Given the description of an element on the screen output the (x, y) to click on. 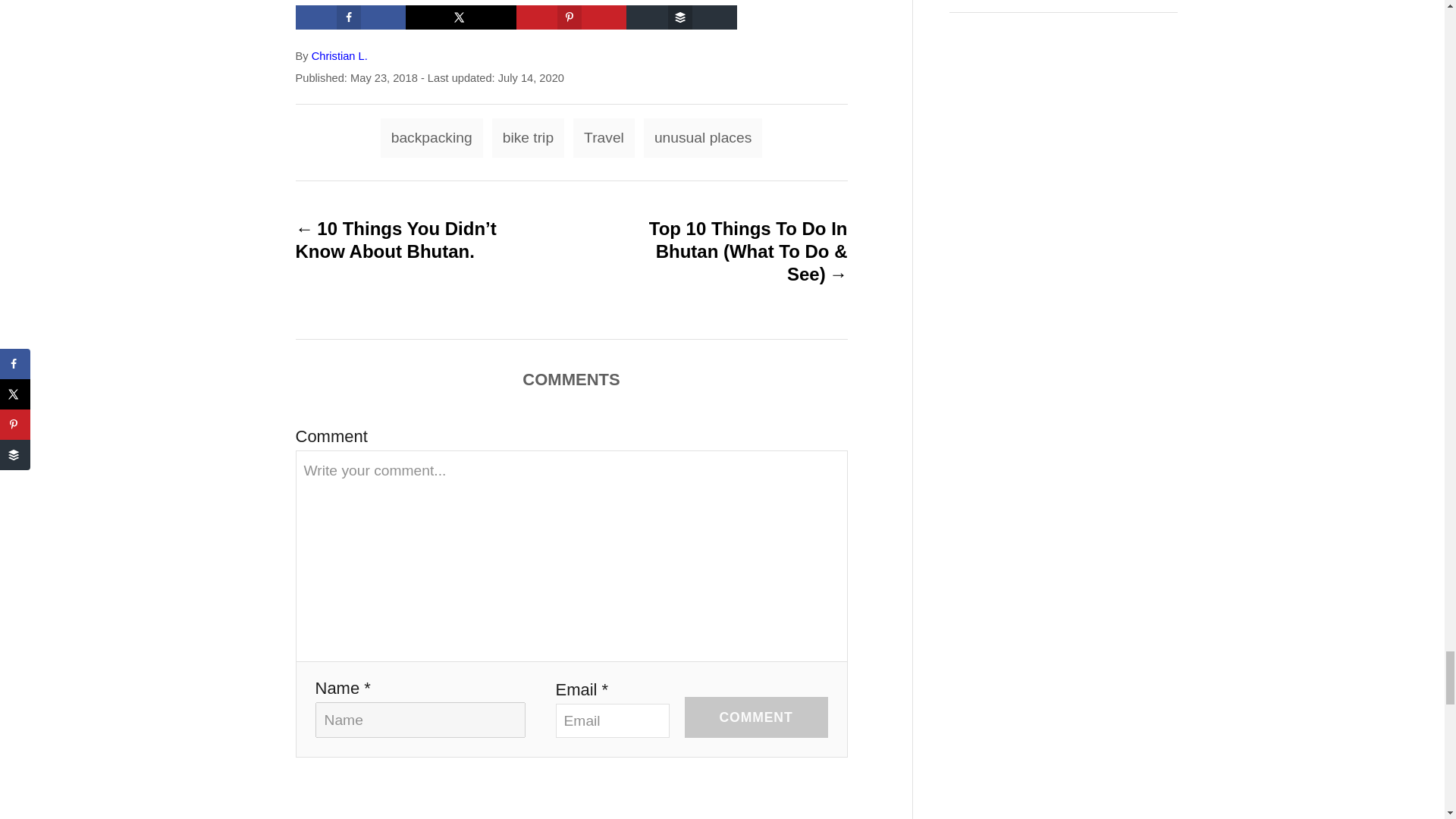
Save to Pinterest (571, 16)
Share on Buffer (681, 16)
Share on Facebook (350, 16)
Share on X (461, 16)
